Given the description of an element on the screen output the (x, y) to click on. 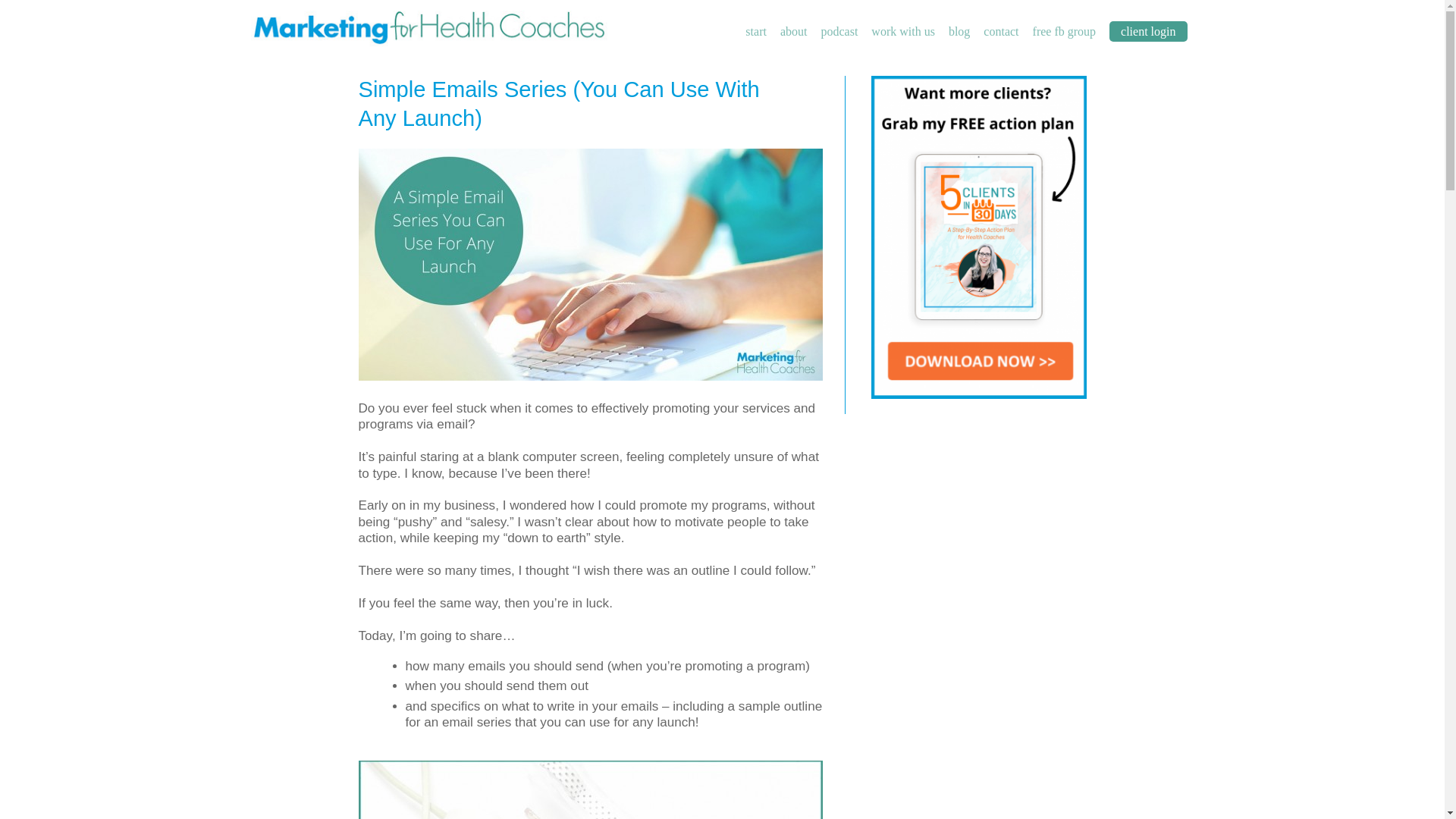
client login (1147, 31)
start (756, 31)
podcast (839, 31)
about (794, 31)
free fb group (1064, 31)
work with us (902, 31)
blog (959, 31)
Marketing For Health Coaches (428, 25)
contact (1000, 31)
